Given the description of an element on the screen output the (x, y) to click on. 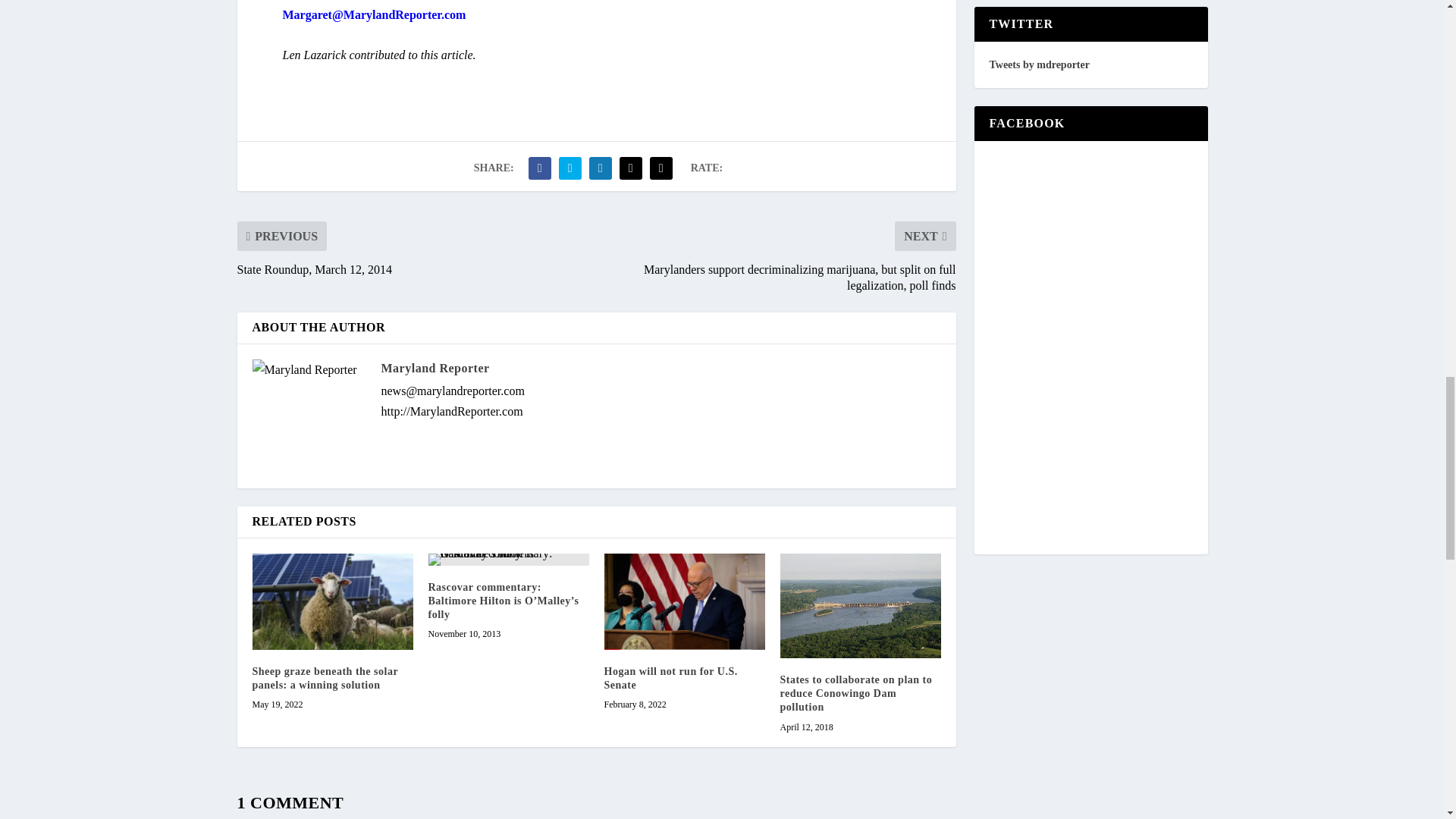
Sheep graze beneath the solar panels: a winning solution (324, 678)
Maryland Reporter (434, 367)
Hogan will not run for U.S. Senate (670, 678)
Hogan will not run for U.S. Senate (684, 601)
